Given the description of an element on the screen output the (x, y) to click on. 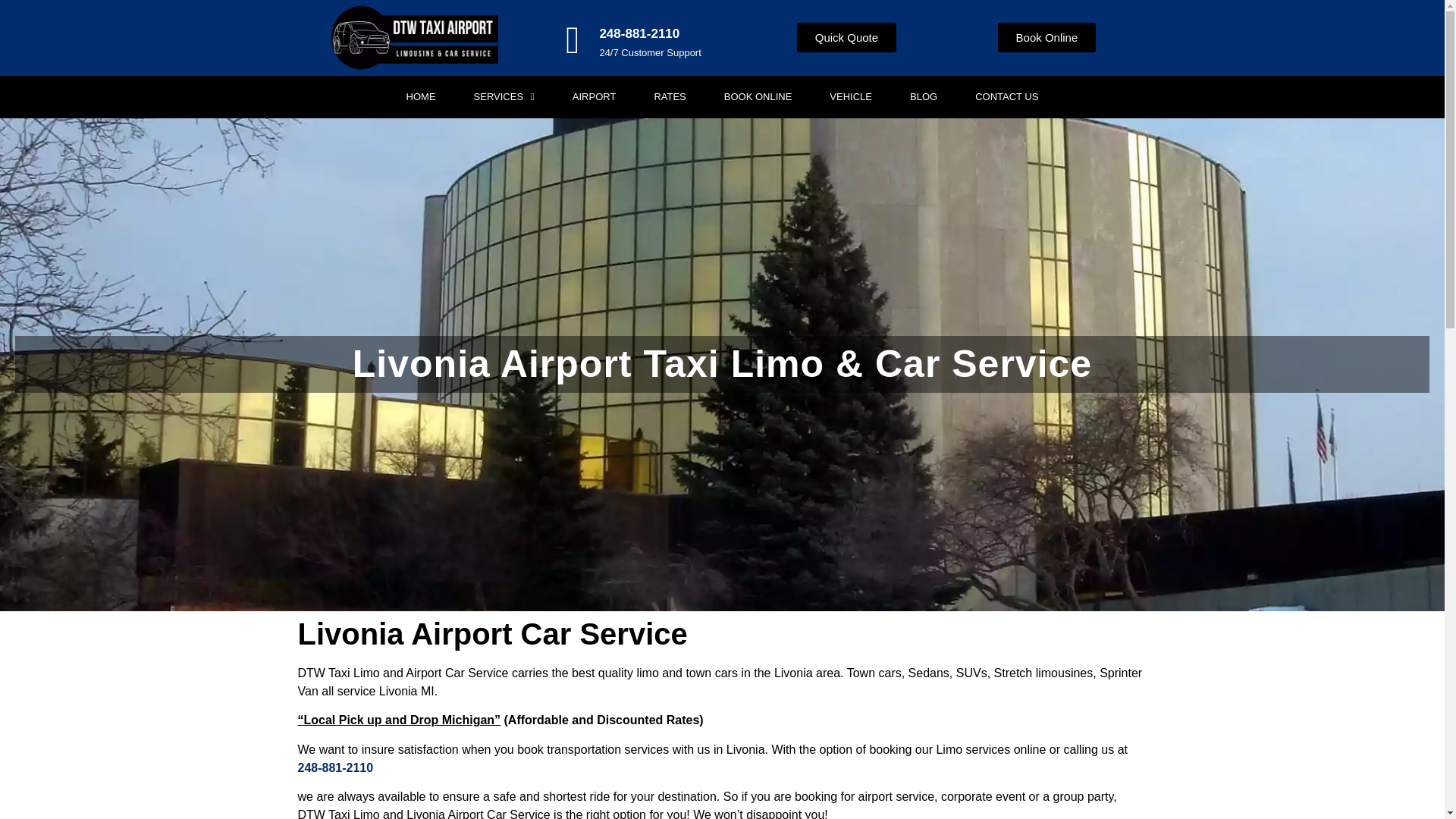
AIRPORT (594, 96)
CONTACT US (1005, 96)
248-881-2110 (334, 767)
SERVICES (504, 96)
Book Online (1046, 37)
BOOK ONLINE (758, 96)
BLOG (923, 96)
VEHICLE (849, 96)
HOME (421, 96)
RATES (669, 96)
Quick Quote (846, 37)
248-881-2110 (638, 33)
